Given the description of an element on the screen output the (x, y) to click on. 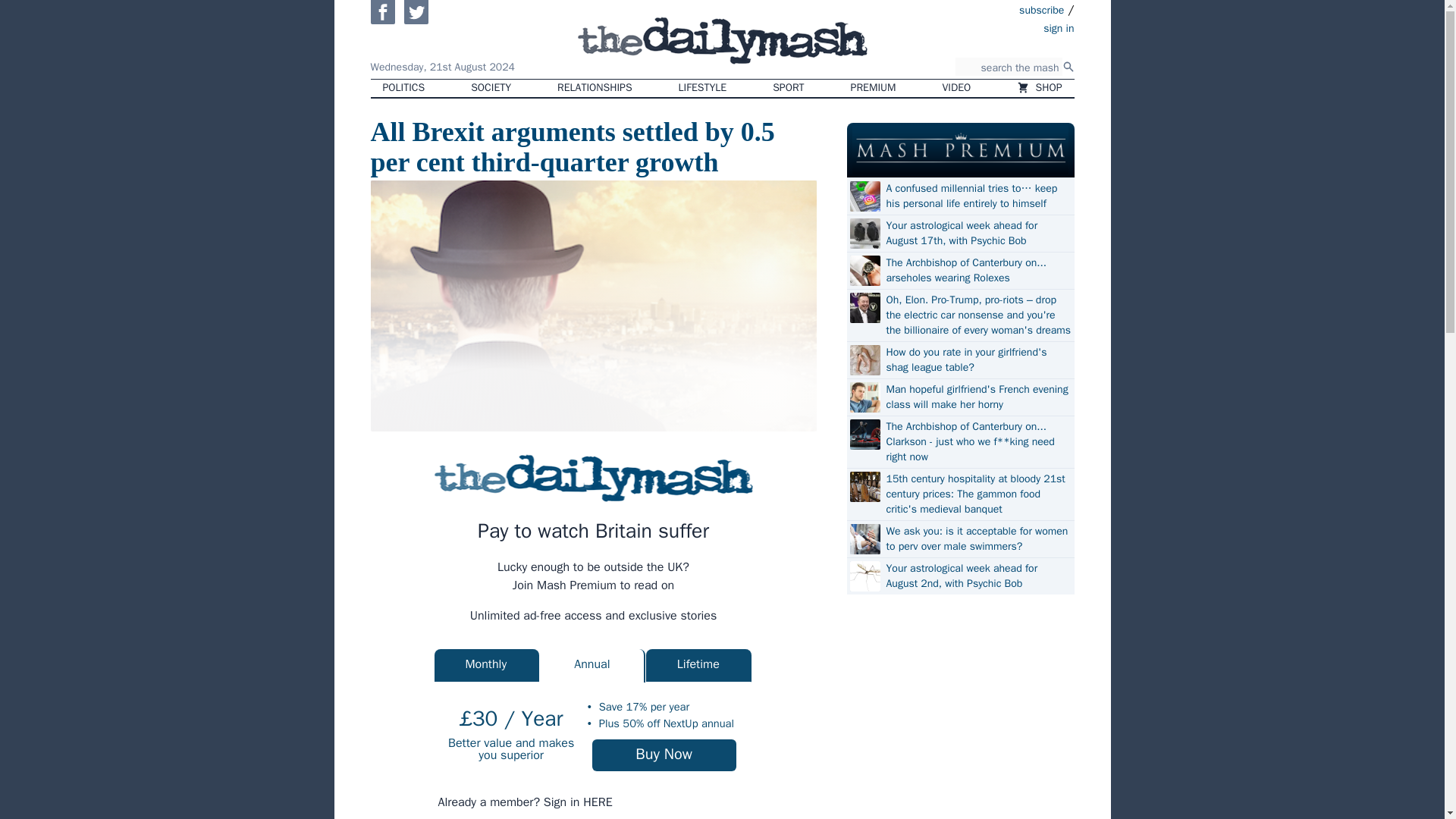
SOCIETY (490, 88)
LIFESTYLE (702, 88)
subscribe (1041, 9)
Buy Now (664, 755)
VIDEO (957, 88)
The Archbishop of Canterbury on... arseholes wearing Rolexes (977, 270)
POLITICS (402, 88)
RELATIONSHIPS (593, 88)
